Given the description of an element on the screen output the (x, y) to click on. 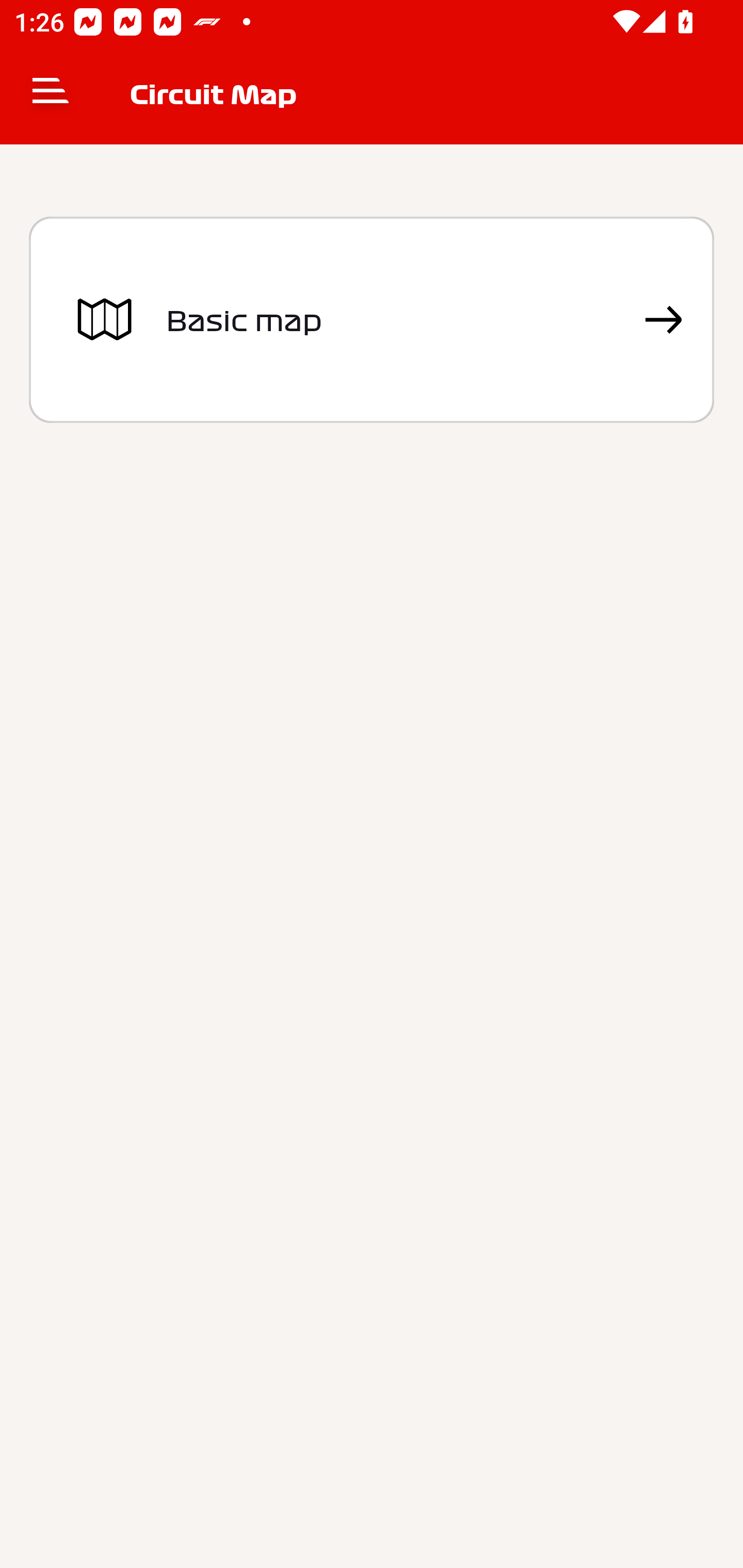
Navigate up (50, 93)
Basic map (371, 319)
